Given the description of an element on the screen output the (x, y) to click on. 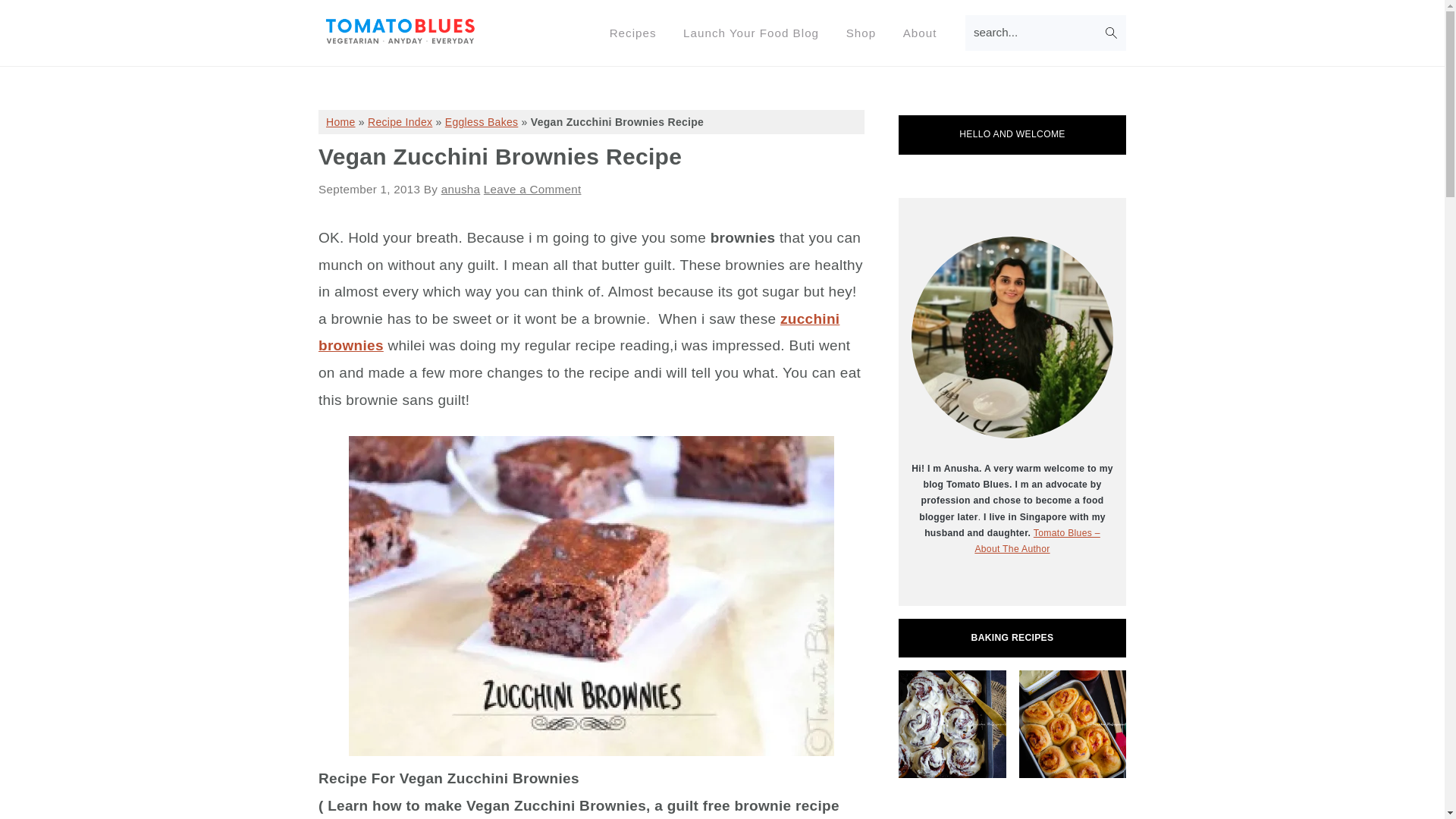
anusha (460, 188)
Launch Your Food Blog (750, 32)
Recipe Index (400, 121)
zucchini brownies (579, 332)
Home (340, 121)
Shop (860, 32)
Eggless Bakes (481, 121)
Tomato Blues (399, 38)
